Given the description of an element on the screen output the (x, y) to click on. 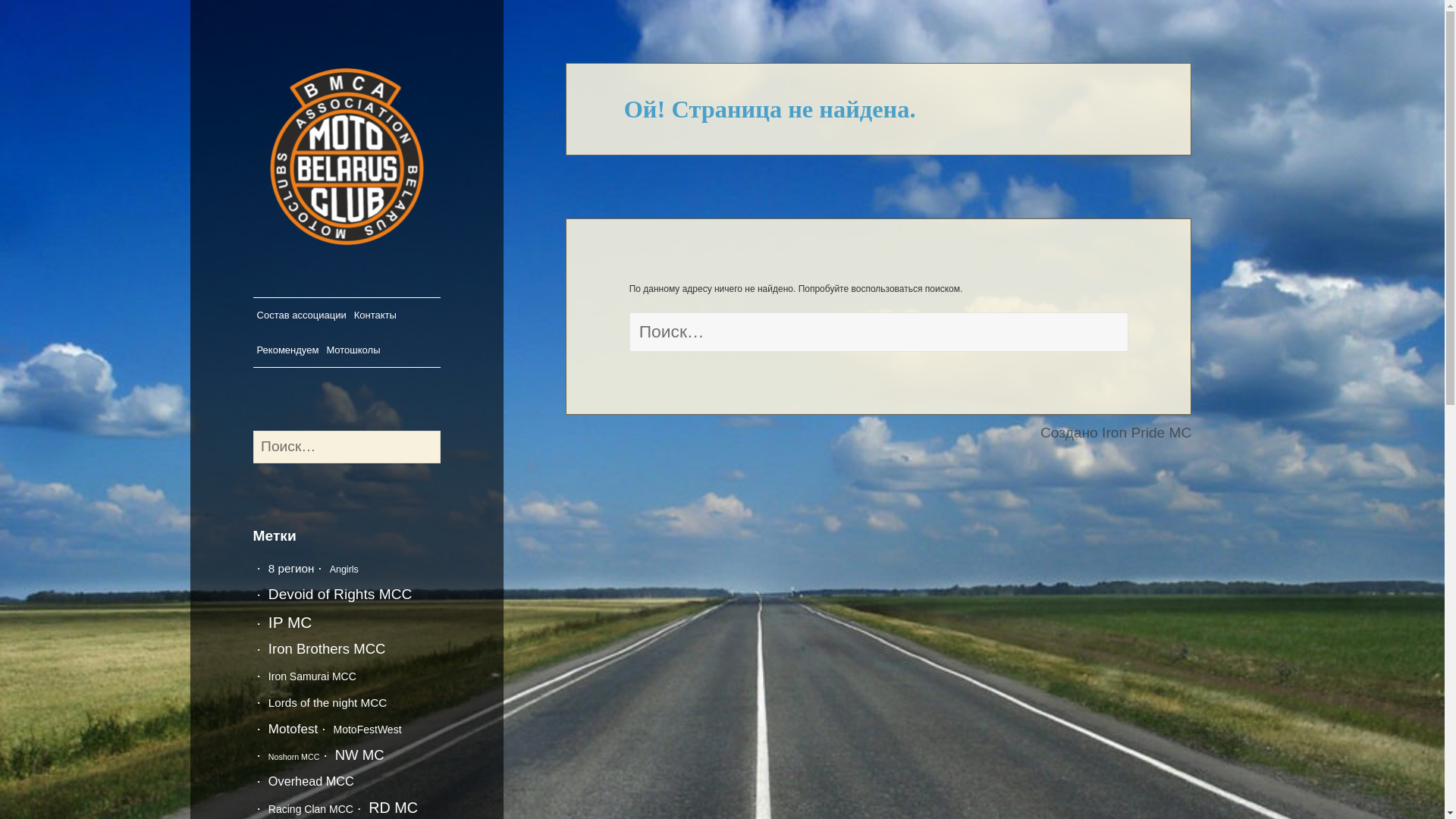
Devoid of Rights MCC Element type: text (340, 594)
Noshorn MCC Element type: text (294, 756)
Iron Samurai MCC Element type: text (312, 676)
Motofest Element type: text (292, 728)
Lords of the night MCC Element type: text (327, 702)
Angirls Element type: text (343, 569)
Racing Clan MCC Element type: text (310, 809)
RD MC Element type: text (392, 807)
Iron Brothers MCC Element type: text (326, 648)
IP MC Element type: text (289, 621)
NW MC Element type: text (359, 754)
Overhead MCC Element type: text (311, 780)
MotoFestWest Element type: text (367, 729)
